Given the description of an element on the screen output the (x, y) to click on. 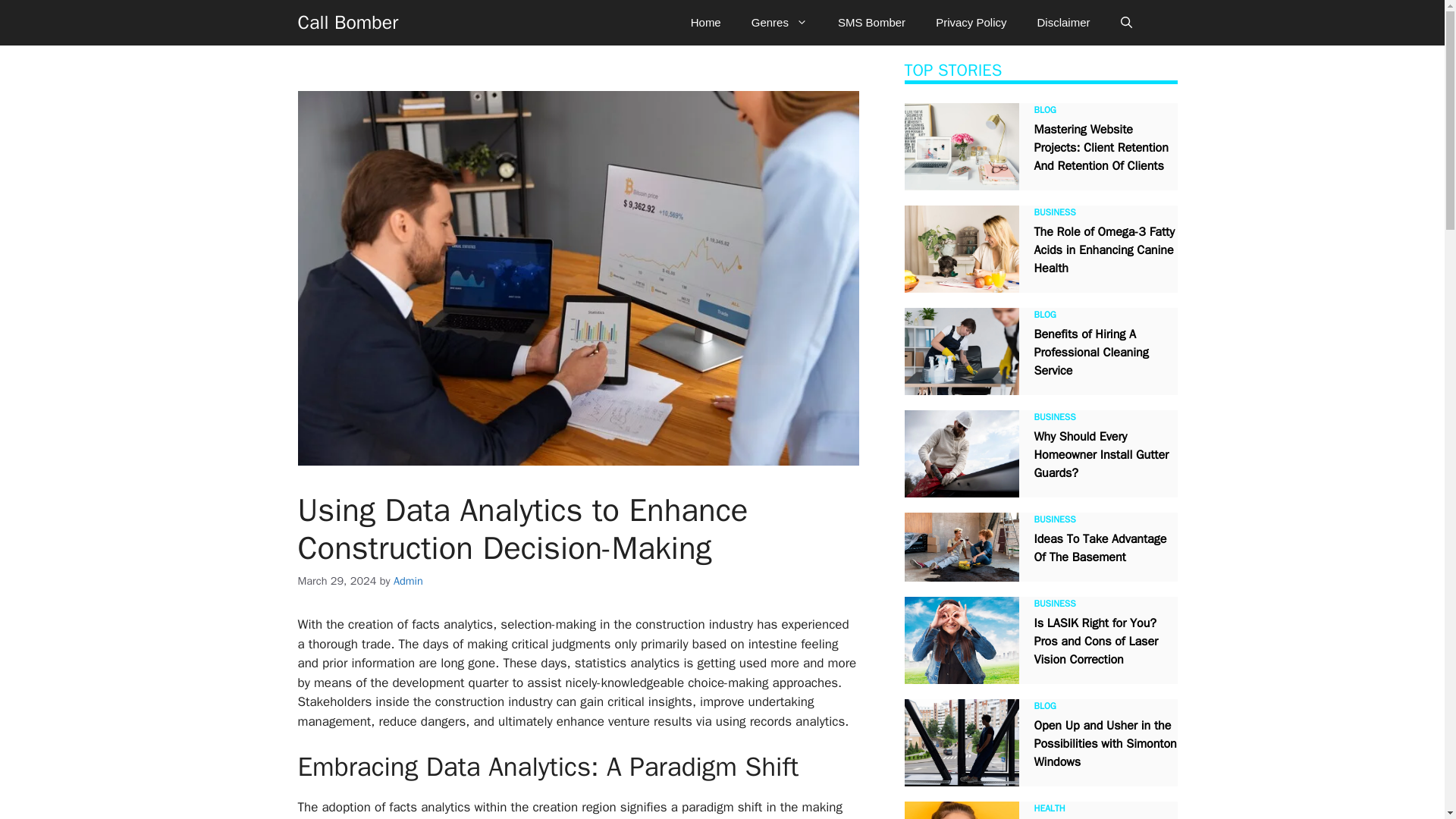
BLOG (1045, 110)
SMS Bomber (871, 22)
Disclaimer (1063, 22)
BUSINESS (1054, 212)
Admin (408, 581)
Home (705, 22)
Privacy Policy (971, 22)
Call Bomber (347, 22)
View all posts by Admin (408, 581)
